Given the description of an element on the screen output the (x, y) to click on. 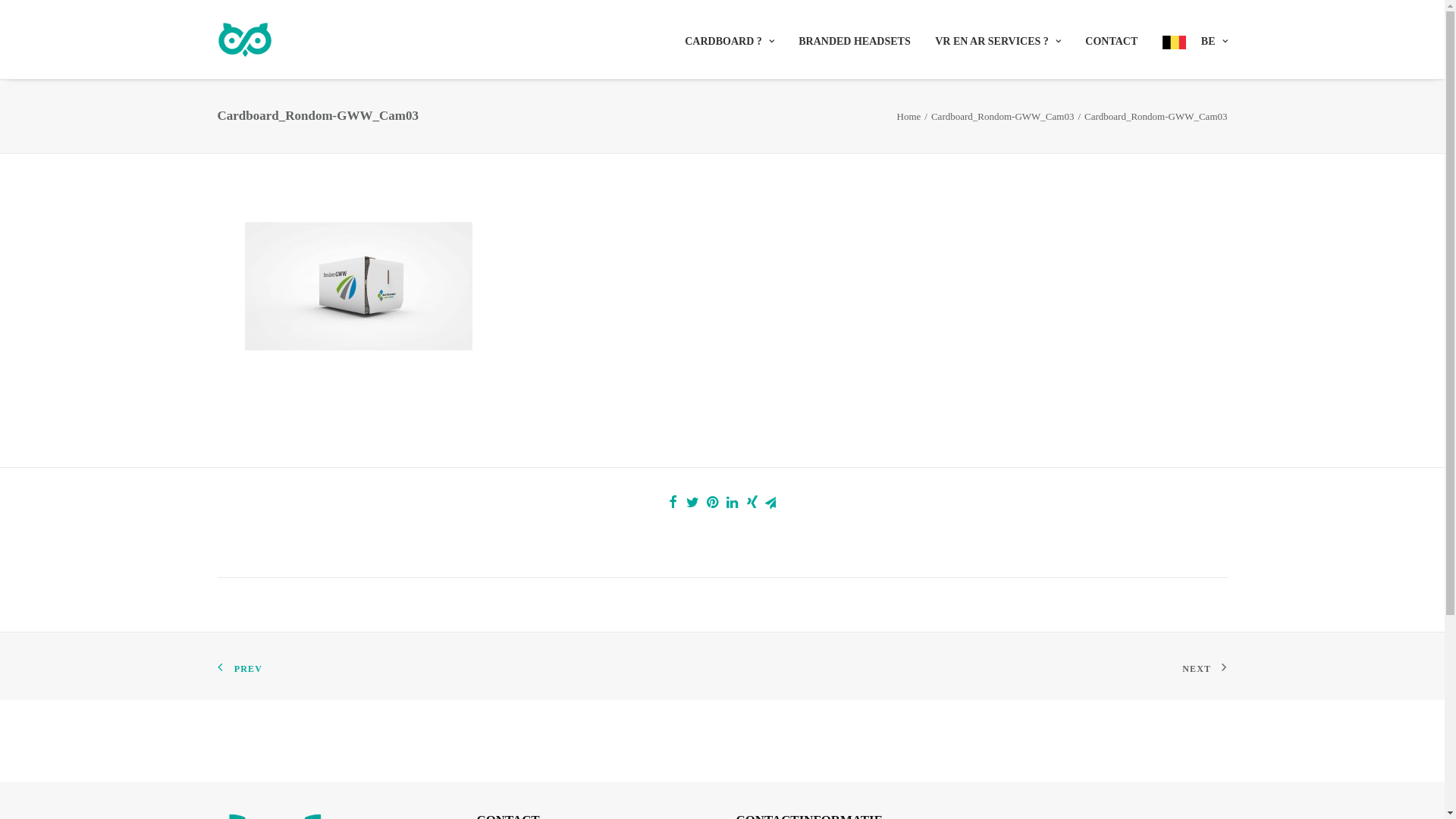
PREV Element type: text (239, 665)
Cardboard_Rondom-GWW_Cam03 Element type: text (1002, 116)
VR EN AR SERVICES ? Element type: text (997, 39)
CARDBOARD ? Element type: text (734, 39)
CONTACT Element type: text (1111, 39)
BE Element type: text (1189, 39)
BRANDED HEADSETS Element type: text (853, 39)
Home Element type: text (909, 116)
